Given the description of an element on the screen output the (x, y) to click on. 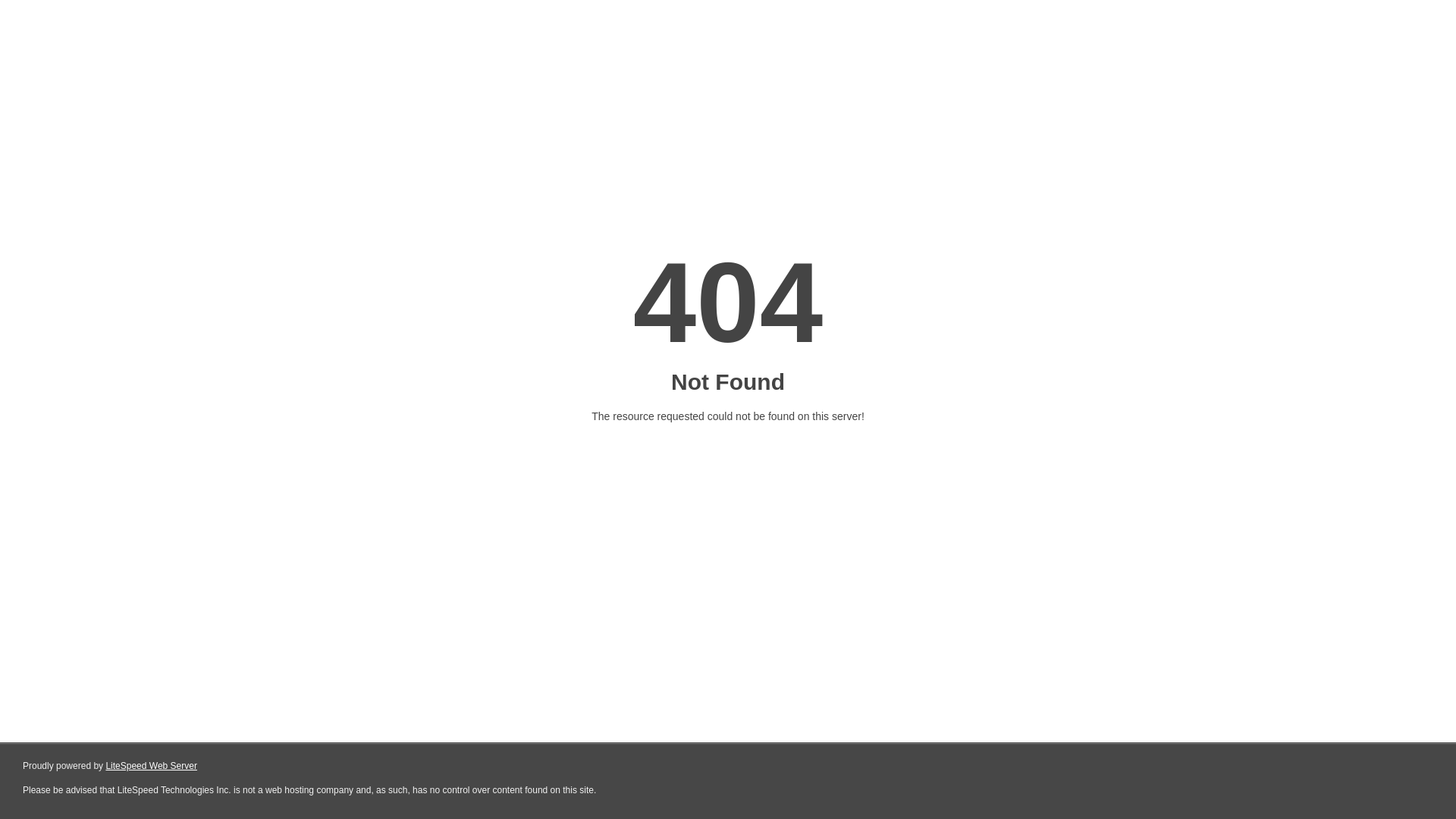
LiteSpeed Web Server Element type: text (151, 765)
